Given the description of an element on the screen output the (x, y) to click on. 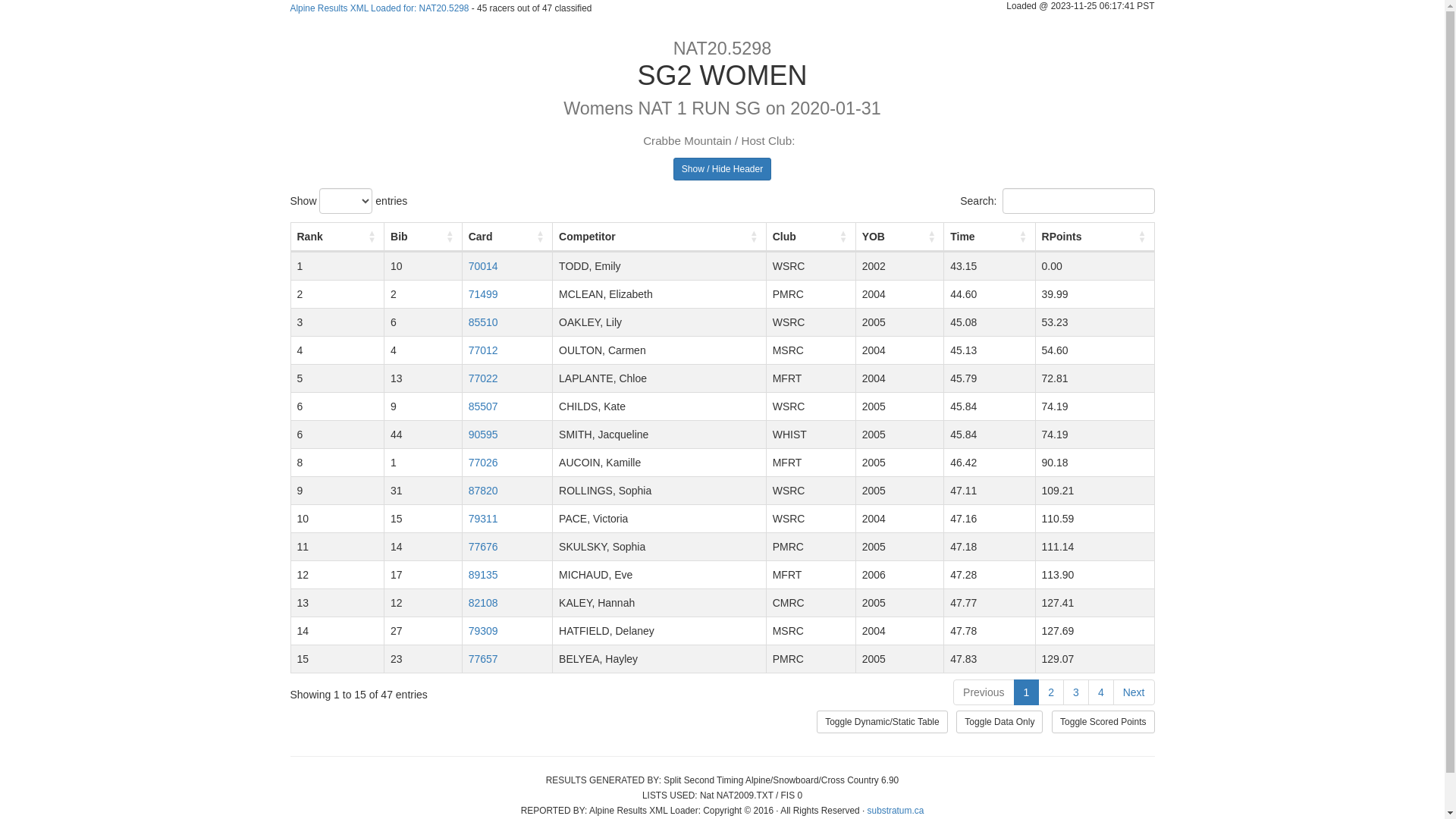
Previous Element type: text (983, 692)
85507 Element type: text (483, 406)
89135 Element type: text (483, 574)
substratum.ca Element type: text (895, 810)
Alpine Results XML Loaded for: NAT20.5298 Element type: text (378, 8)
79309 Element type: text (483, 630)
77676 Element type: text (483, 546)
Next Element type: text (1133, 692)
Toggle Dynamic/Static Table Element type: text (881, 721)
85510 Element type: text (483, 322)
77012 Element type: text (483, 350)
77022 Element type: text (483, 378)
Show / Hide Header Element type: text (722, 168)
Toggle Data Only Element type: text (999, 721)
70014 Element type: text (483, 266)
82108 Element type: text (483, 602)
79311 Element type: text (483, 518)
3 Element type: text (1075, 692)
71499 Element type: text (483, 294)
2 Element type: text (1050, 692)
87820 Element type: text (483, 490)
90595 Element type: text (483, 434)
1 Element type: text (1026, 692)
4 Element type: text (1100, 692)
Toggle Scored Points Element type: text (1102, 721)
77657 Element type: text (483, 658)
77026 Element type: text (483, 462)
